Given the description of an element on the screen output the (x, y) to click on. 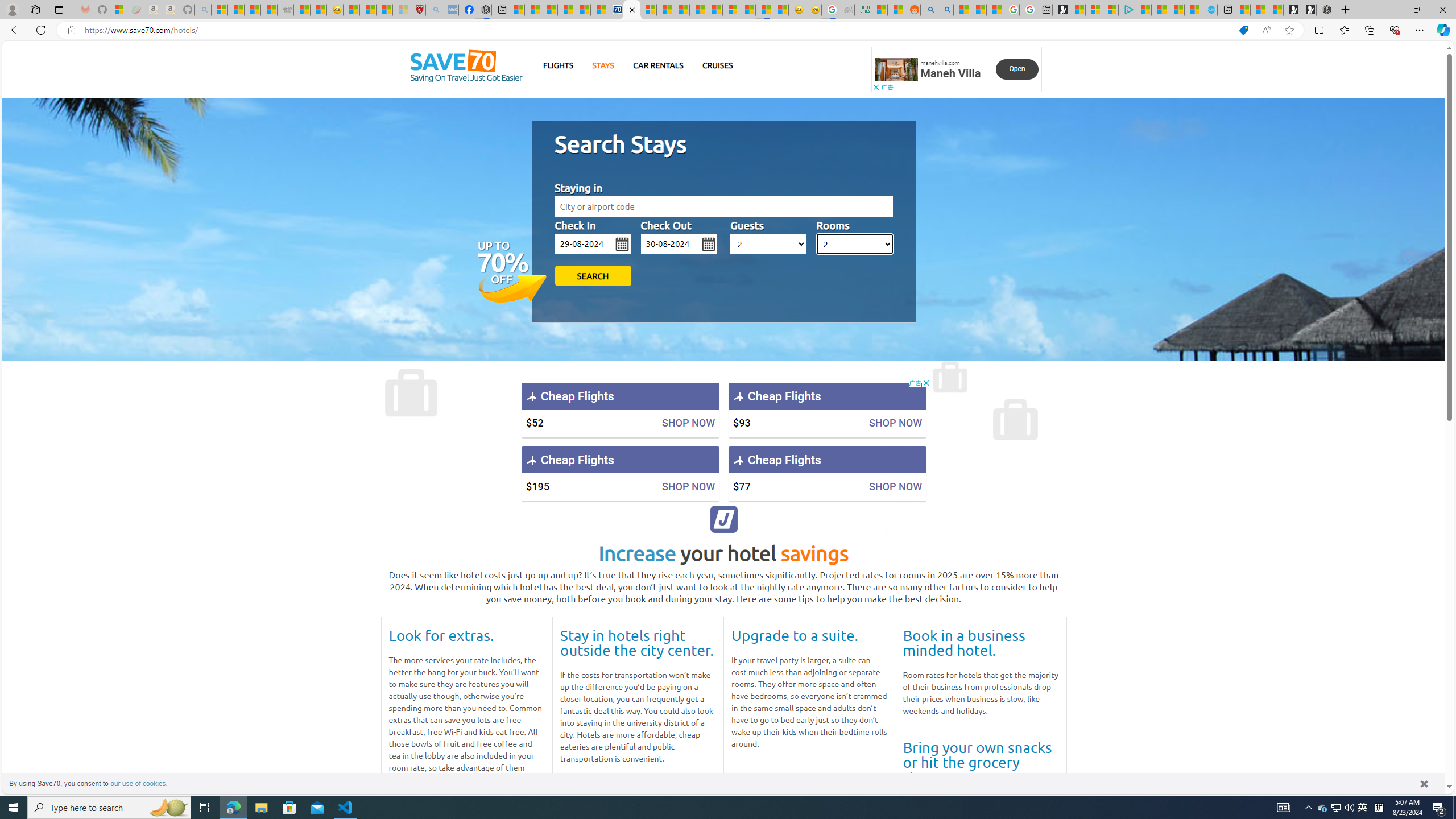
Cheap Flights $195 SHOP NOW (620, 473)
Cheap Flights $93 SHOP NOW (827, 409)
Cheap Flights $77 SHOP NOW (827, 473)
City or airport code (723, 206)
Homepage (465, 65)
